Given the description of an element on the screen output the (x, y) to click on. 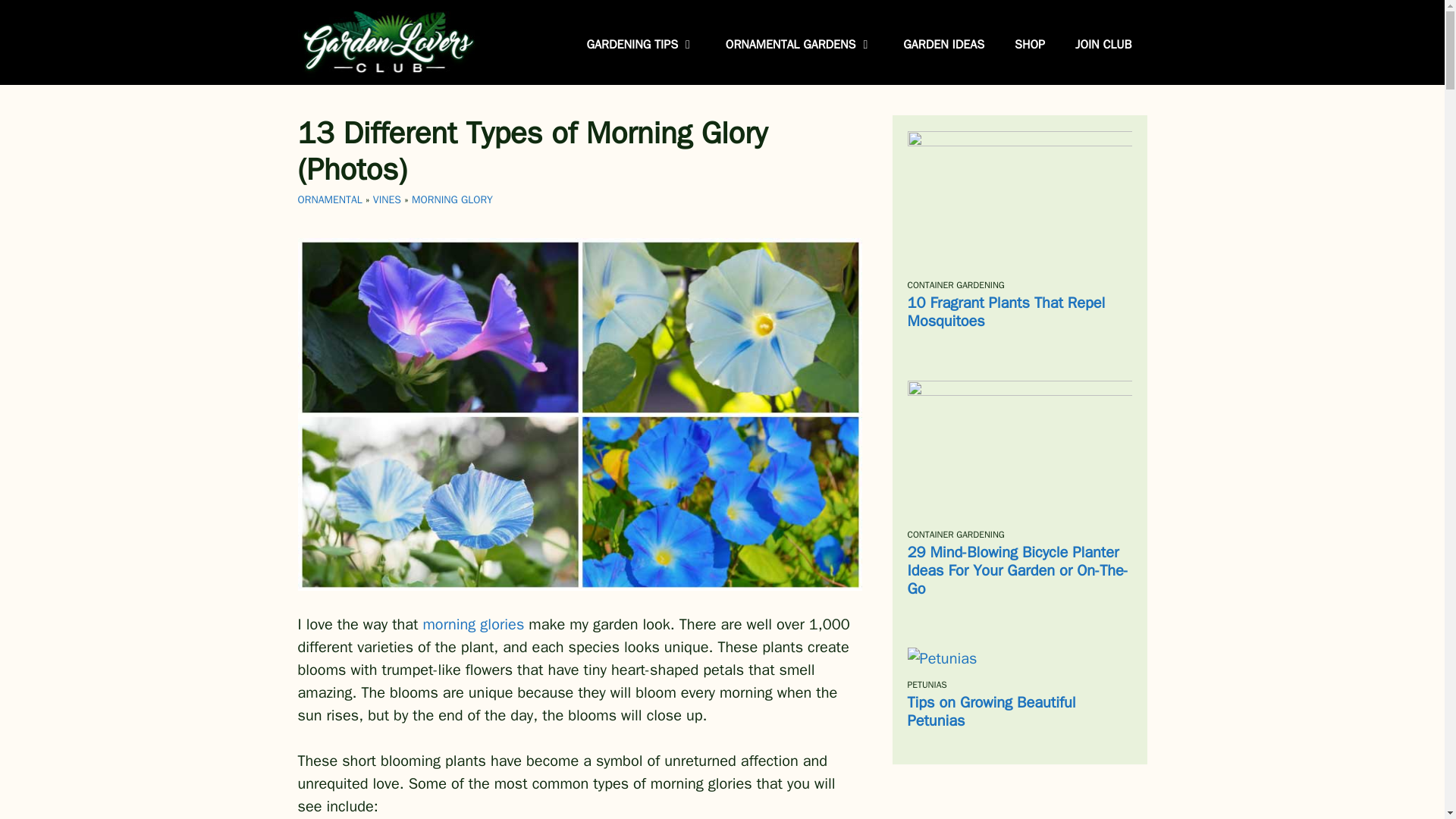
SHOP (1028, 44)
JOIN CLUB (1103, 44)
GARDEN IDEAS (943, 44)
ORNAMENTAL GARDENS (799, 44)
GARDENING TIPS (641, 44)
